Given the description of an element on the screen output the (x, y) to click on. 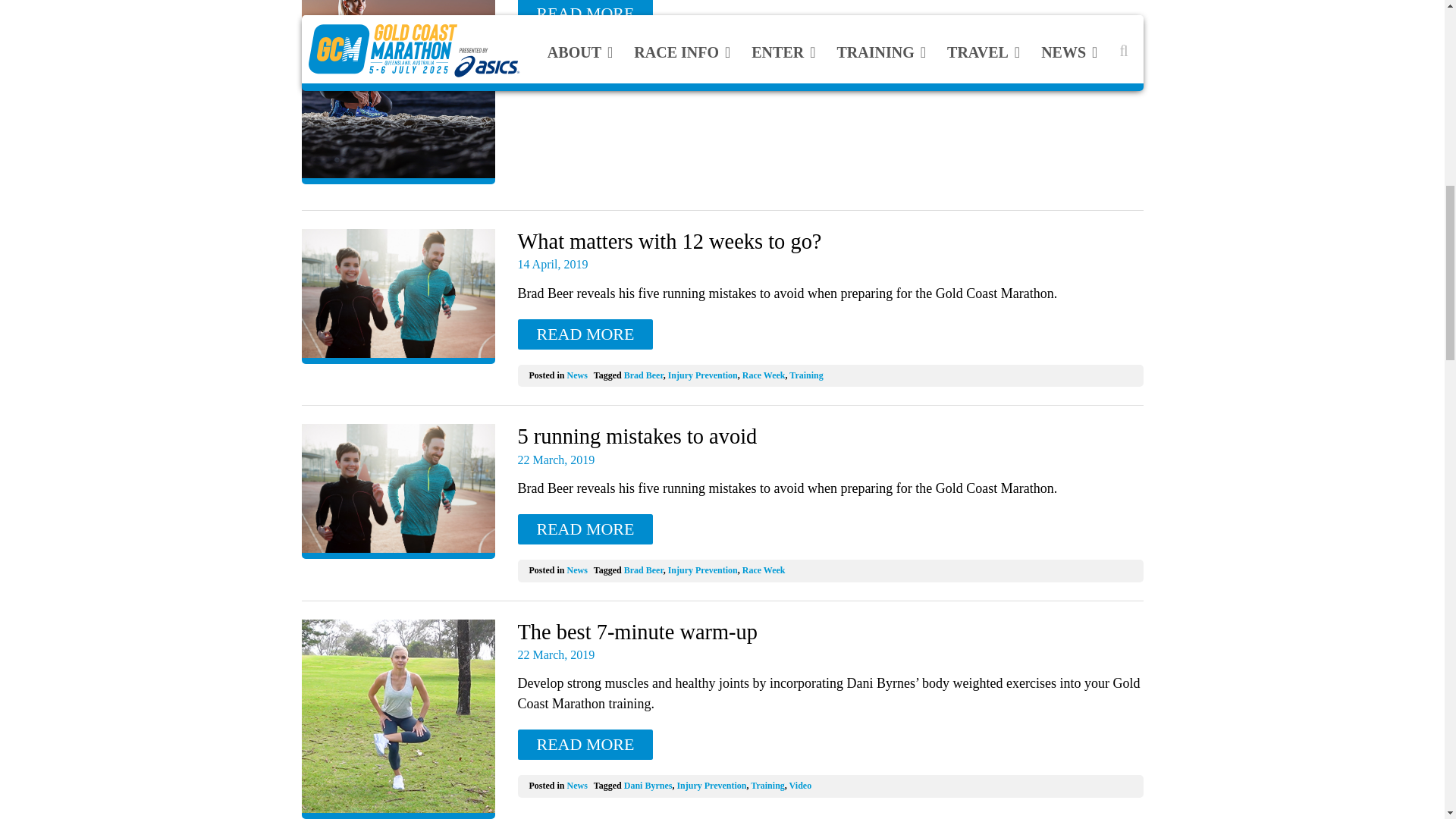
Read: What matters with 12 weeks to go? (584, 334)
Read: Warming up to good times (584, 14)
Read: 5 running mistakes to avoid (398, 491)
Read: The best 7-minute warm-up (398, 719)
Read: 5 running mistakes to avoid (584, 529)
Read: Warming up to good times (398, 92)
Read: The best 7-minute warm-up (584, 744)
Read: What matters with 12 weeks to go? (398, 296)
